Given the description of an element on the screen output the (x, y) to click on. 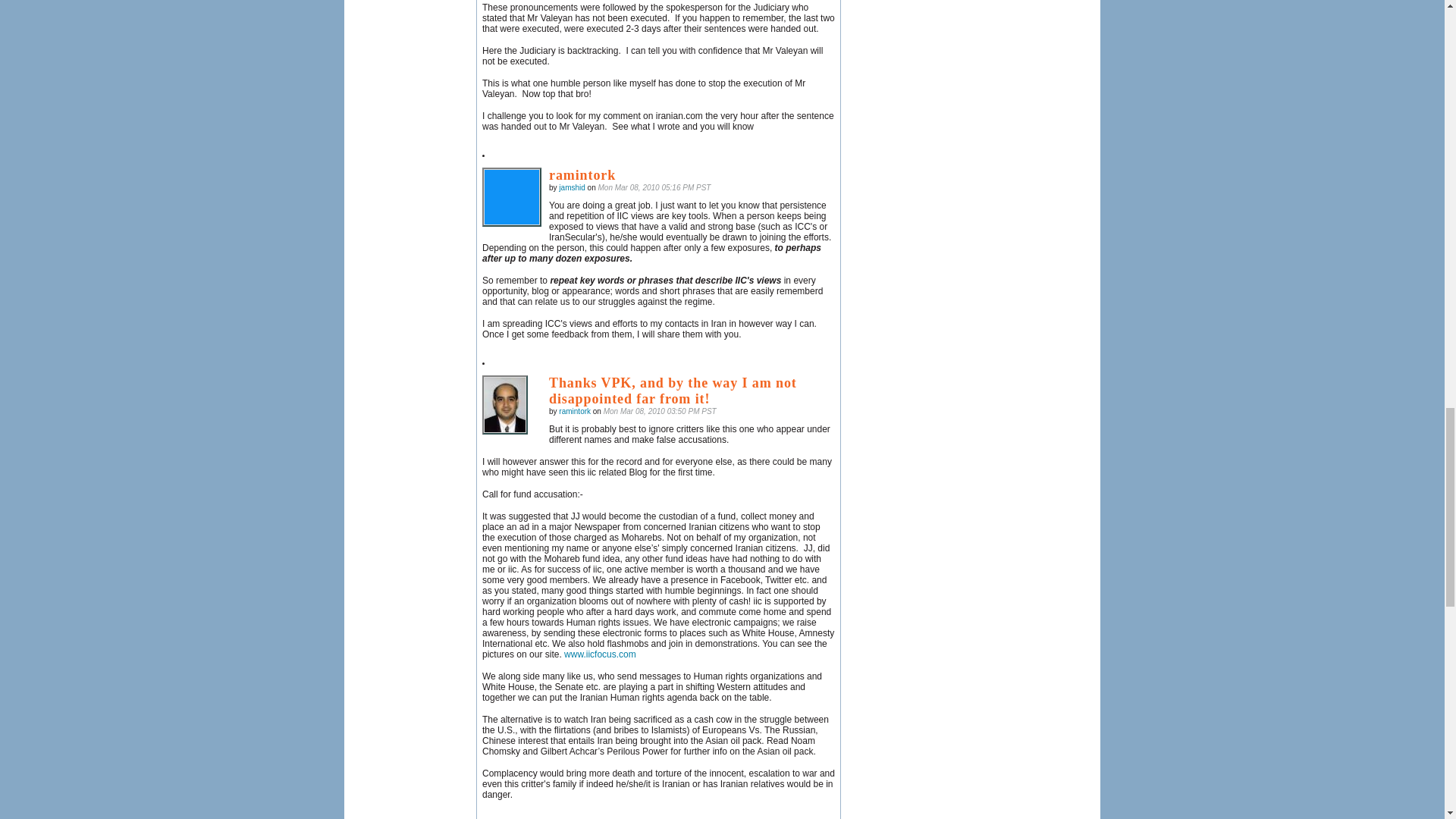
View user profile. (575, 411)
View user profile. (572, 187)
jamshid (511, 196)
